Given the description of an element on the screen output the (x, y) to click on. 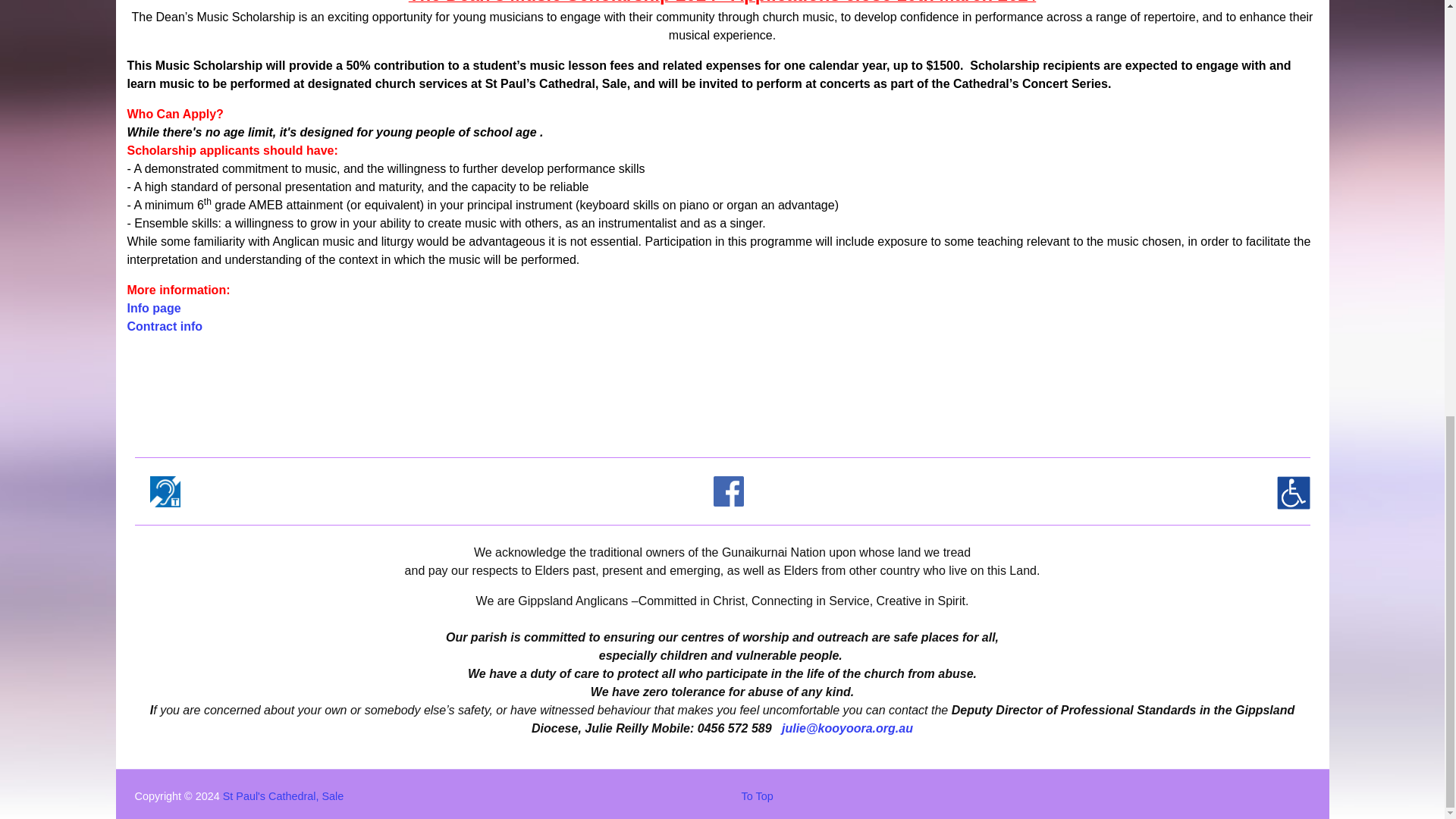
St Paul's Cathedral, Sale (282, 796)
